Given the description of an element on the screen output the (x, y) to click on. 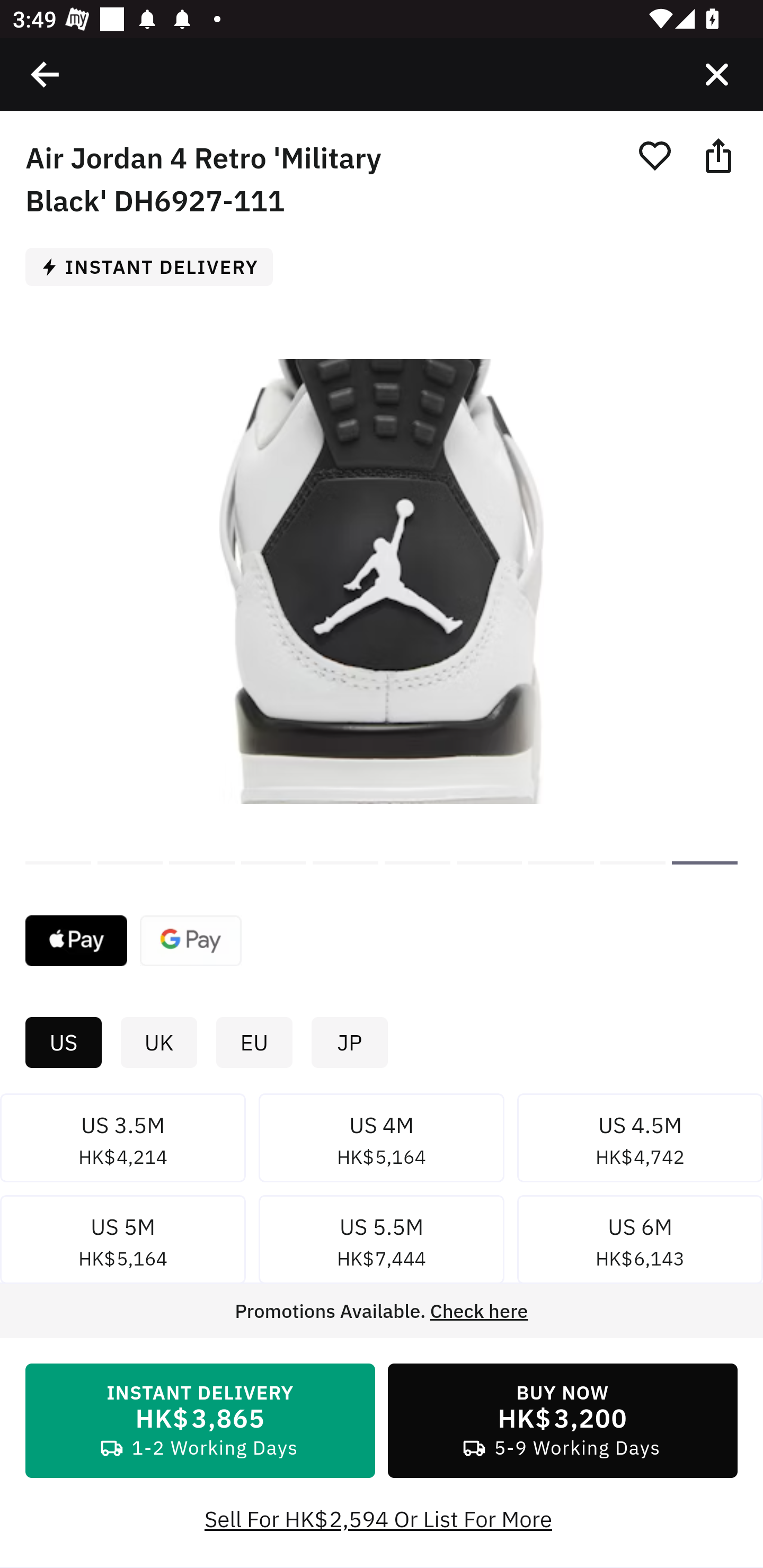
 (46, 74)
 (716, 74)
wishlist (654, 155)
INSTANT DELIVERY (155, 266)
Air Jordan 4 Retro 'Military Black' DH6927‑111 (703, 861)
US (63, 1042)
UK (158, 1042)
EU (253, 1042)
JP (349, 1042)
US 3.5M HK$ 4,214 (122, 1140)
US 4M HK$ 5,164 (381, 1140)
US 4.5M HK$ 4,742 (639, 1140)
US 5M HK$ 5,164 (122, 1242)
US 5.5M HK$ 7,444 (381, 1242)
US 6M HK$ 6,143 (639, 1242)
Promotions Available. Check here (381, 1310)
INSTANT DELIVERY HK$ 3,865 1-2 Working Days (200, 1421)
BUY NOW HK$ 3,200 5-9 Working Days (562, 1421)
Sell For HK$ 2,594 Or List For More (381, 1519)
